Given the description of an element on the screen output the (x, y) to click on. 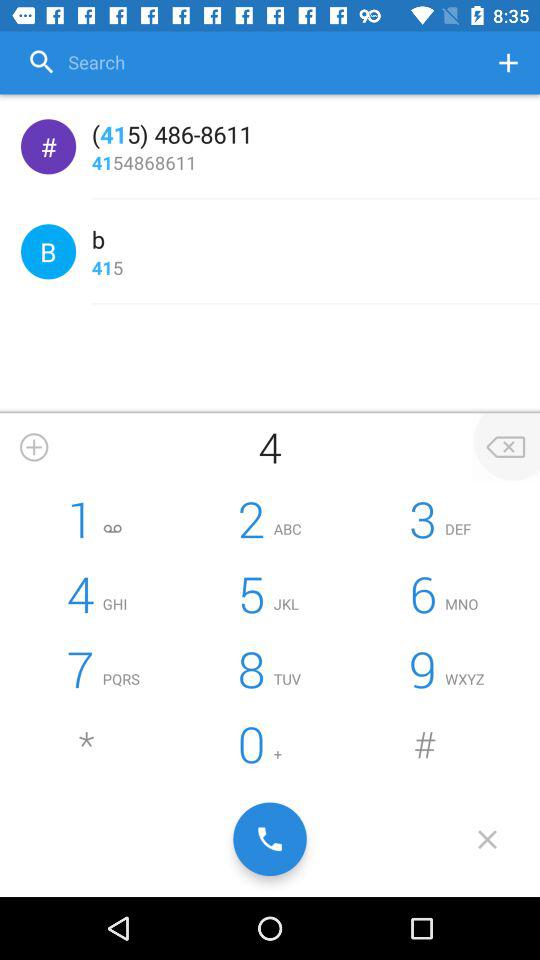
delete last number input (505, 447)
